Given the description of an element on the screen output the (x, y) to click on. 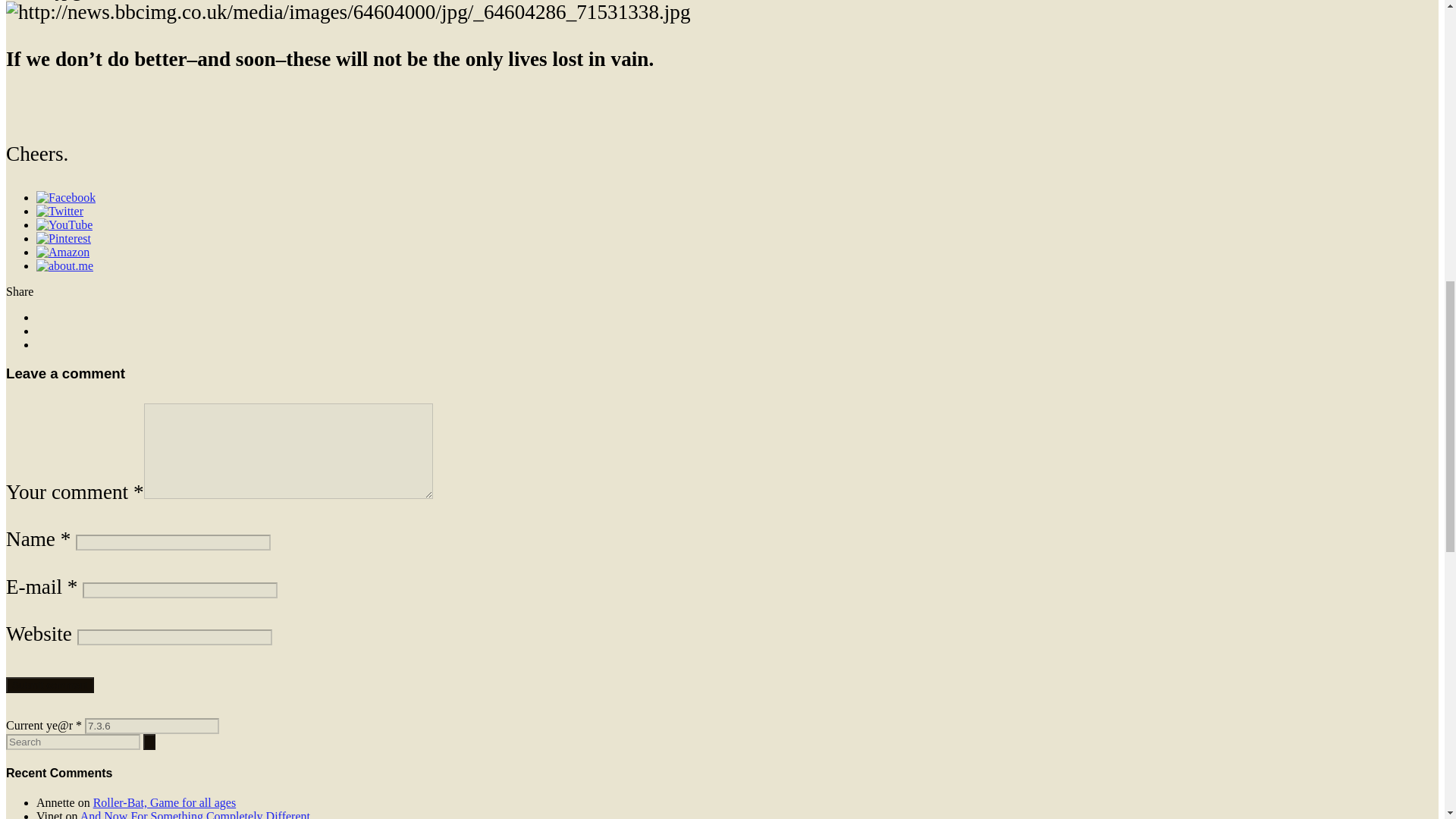
Roller-Bat, Game for all ages (164, 802)
Twitter (59, 210)
YouTube (64, 224)
7.3.6 (151, 725)
Submit comment (49, 684)
Pinterest (63, 237)
Amazon (62, 251)
Facebook (66, 196)
about.me (64, 265)
And Now For Something Completely Different (195, 814)
Submit comment (49, 684)
